Given the description of an element on the screen output the (x, y) to click on. 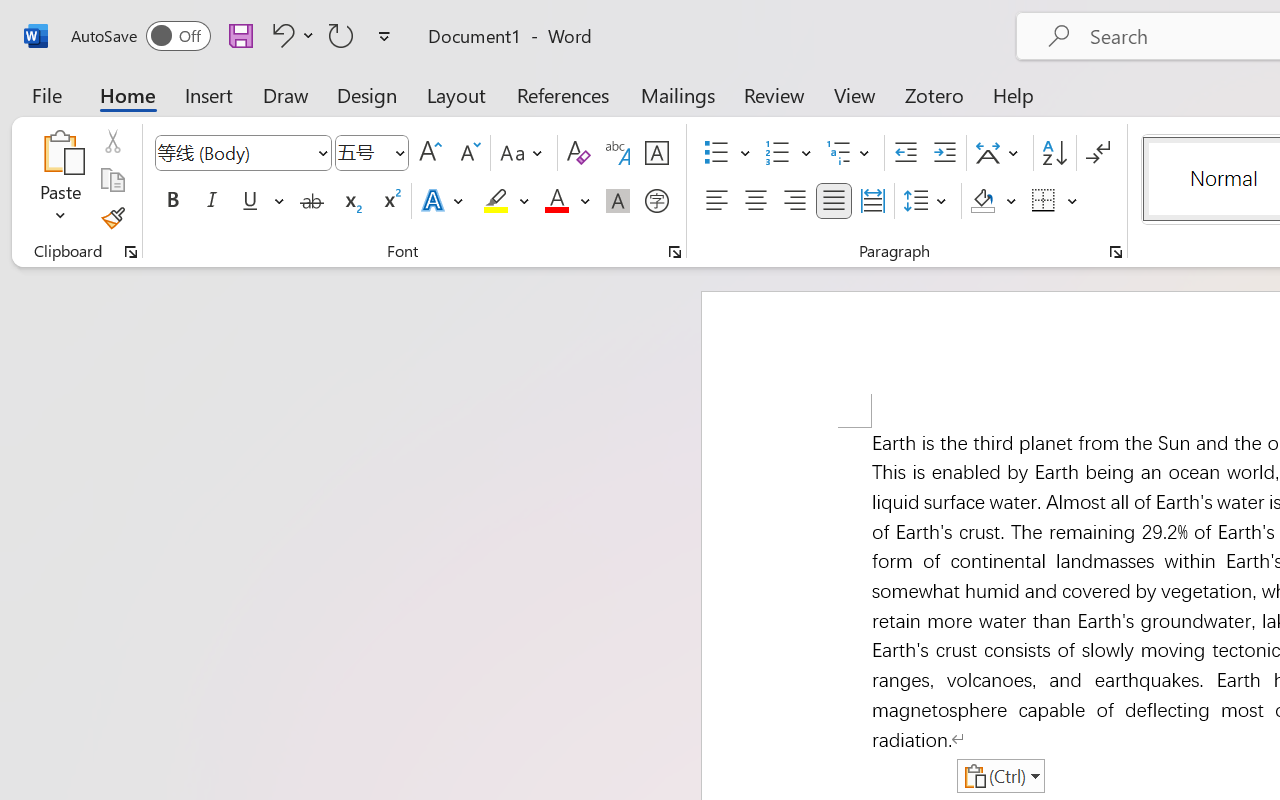
Center (756, 201)
Cut (112, 141)
Superscript (390, 201)
Undo Paste Text Only (280, 35)
Shading RGB(0, 0, 0) (982, 201)
Bold (172, 201)
